Given the description of an element on the screen output the (x, y) to click on. 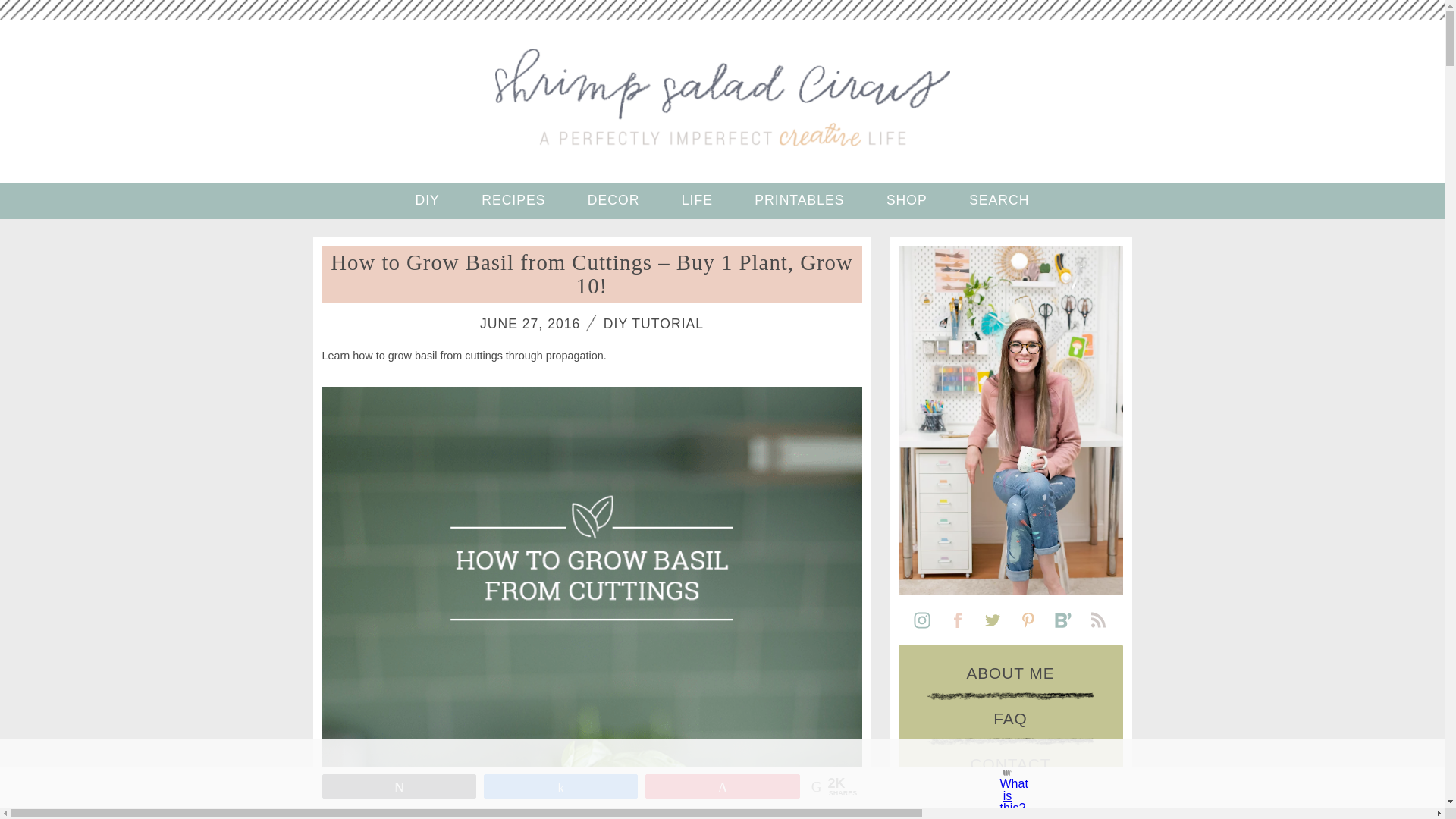
DIY (426, 201)
